Given the description of an element on the screen output the (x, y) to click on. 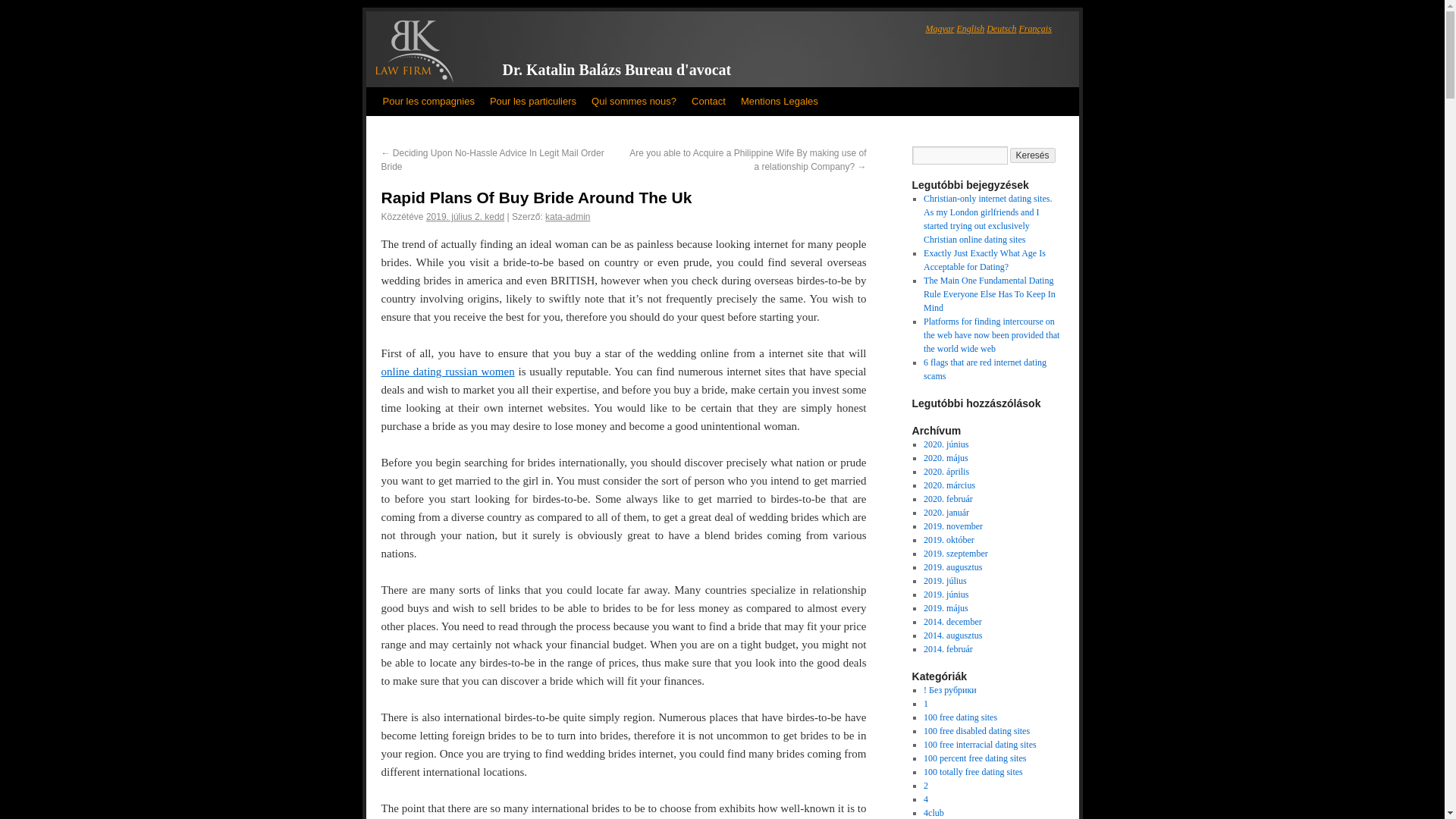
Magyar (938, 28)
Contact (708, 101)
Mentions Legales (779, 101)
English (970, 28)
Qui sommes nous? (633, 101)
kata-admin (566, 216)
Deutsch (1001, 28)
online dating russian women (446, 371)
Pour les particuliers (532, 101)
00:00 (464, 216)
Pour les compagnies (427, 101)
